Given the description of an element on the screen output the (x, y) to click on. 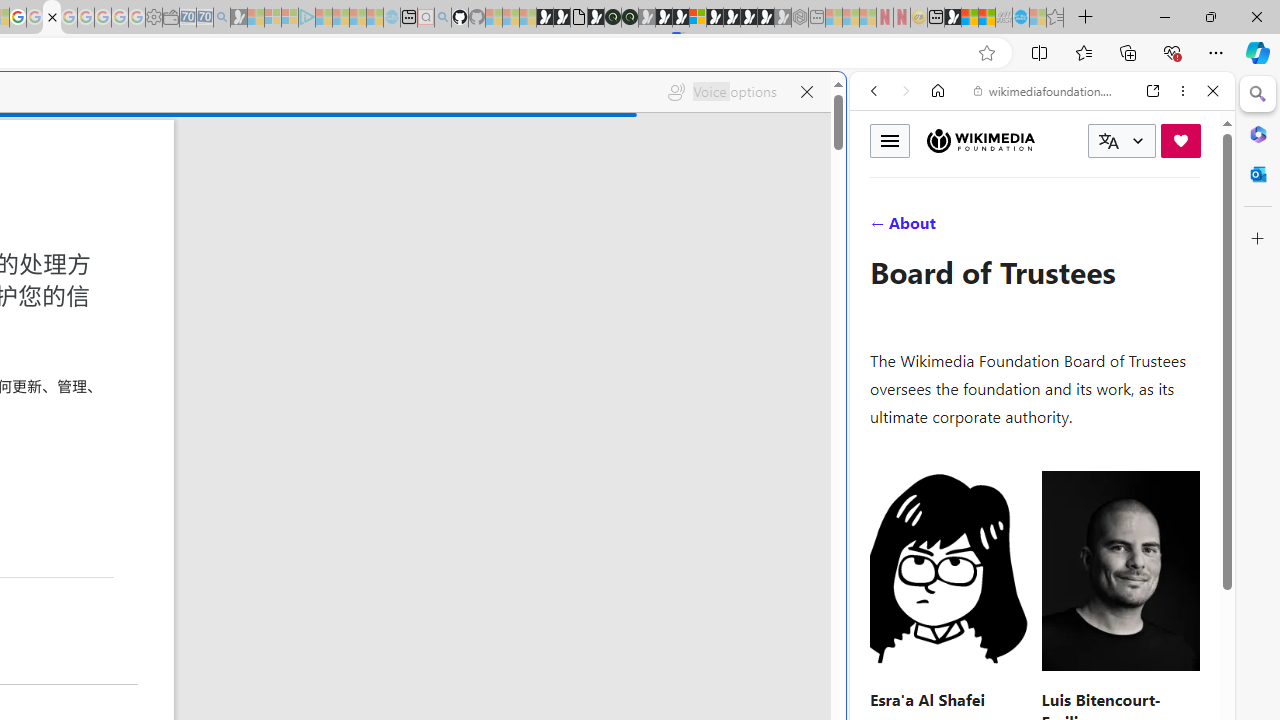
CURRENT LANGUAGE: (1121, 141)
